Given the description of an element on the screen output the (x, y) to click on. 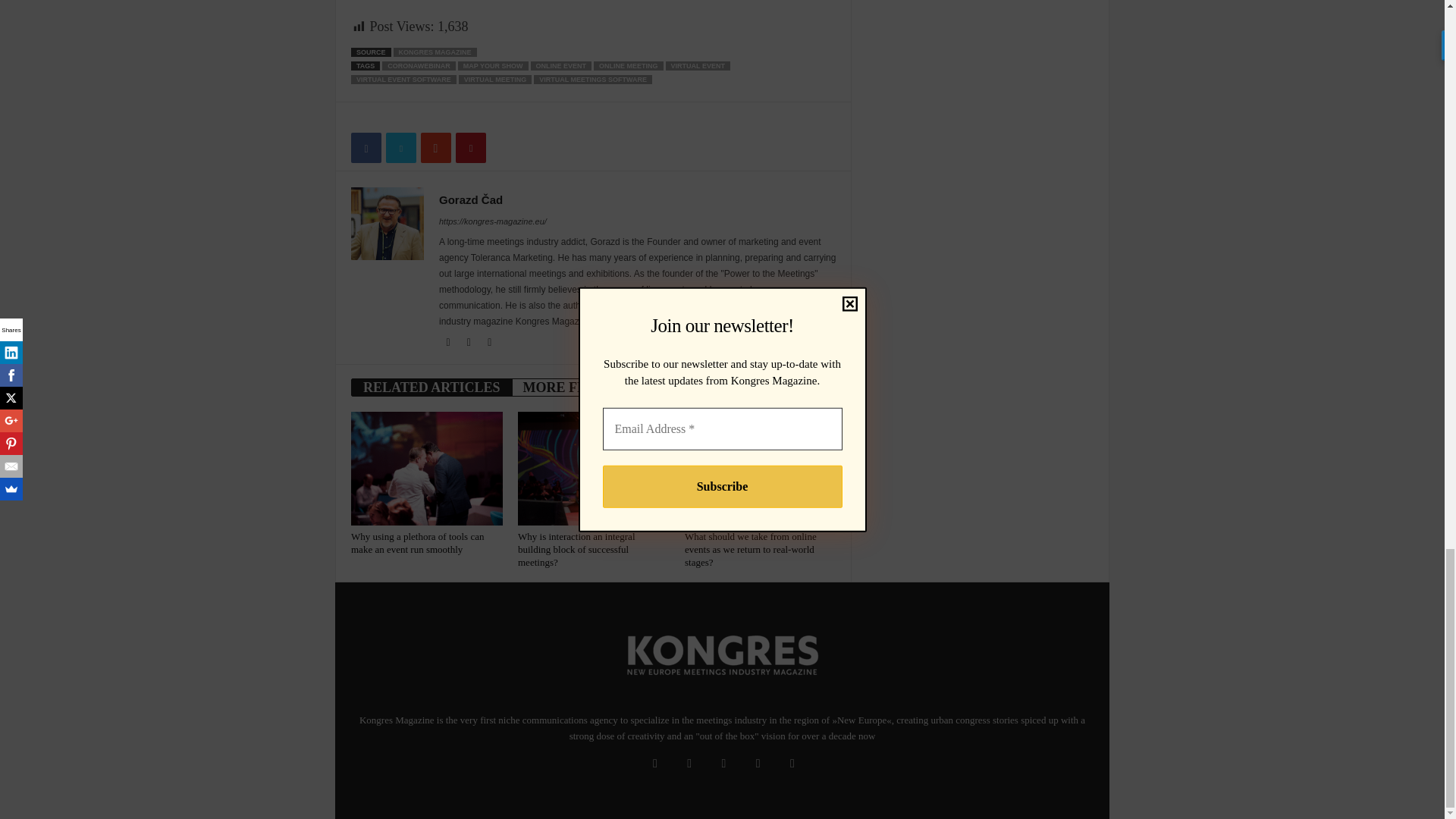
Twitter (489, 342)
Linkedin (470, 342)
Facebook (449, 342)
Why using a plethora of tools can make an event run smoothly (426, 468)
